Given the description of an element on the screen output the (x, y) to click on. 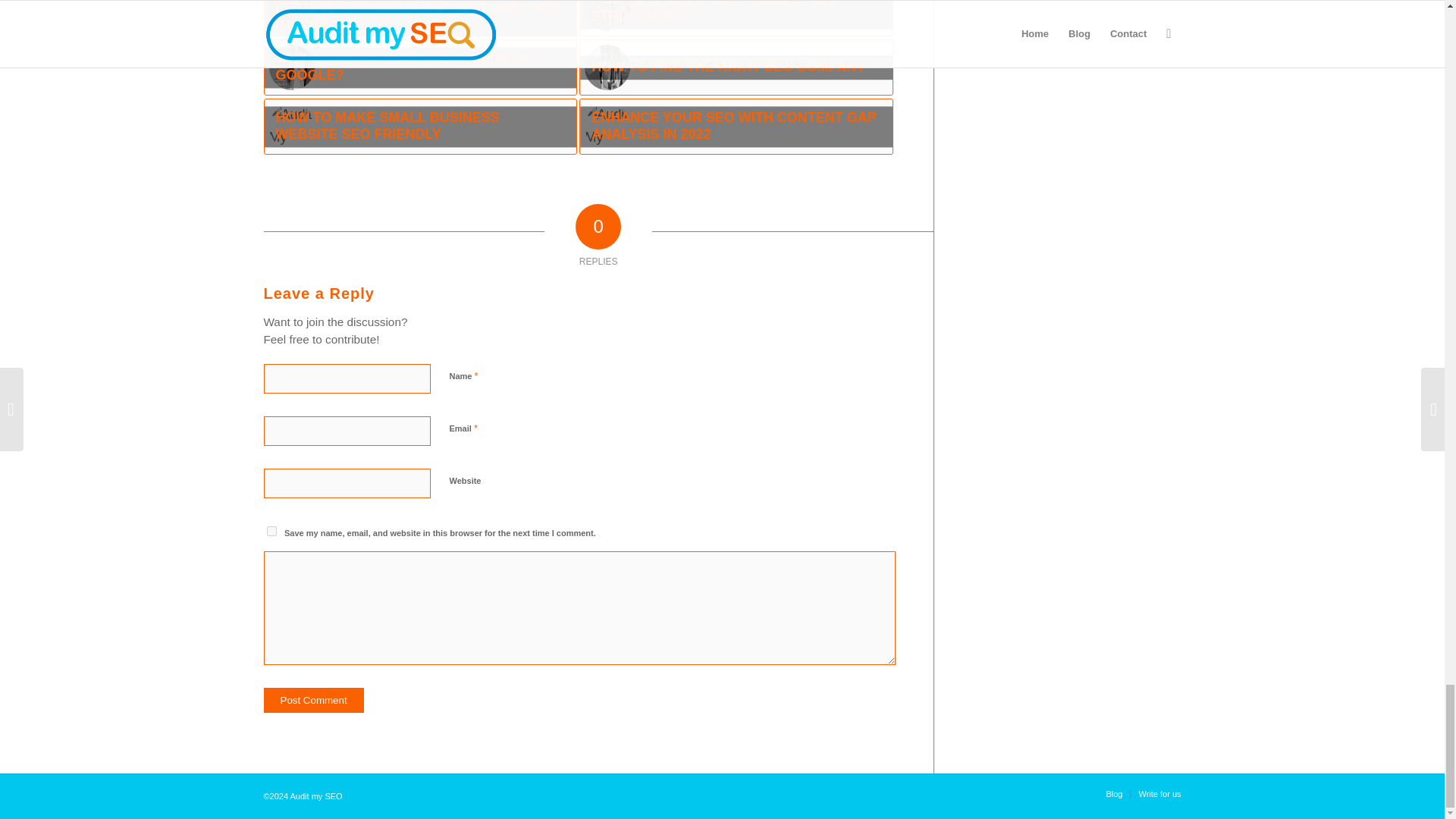
Post Comment (313, 699)
HOW TO CREATE SEO FRIENDLY URL STRUCTURE? (736, 18)
HOW TO FIND THE RIGHT SEO COMPANY (736, 67)
HOW TO MAKE SMALL BUSINESS WEBSITE SEO FRIENDLY (420, 126)
WHY IS MY WEBSITE NOT RANKING IN GOOGLE? (420, 67)
Post Comment (313, 699)
ENHANCE YOUR SEO WITH CONTENT GAP ANALYSIS IN 2022 (736, 126)
yes (271, 531)
